Given the description of an element on the screen output the (x, y) to click on. 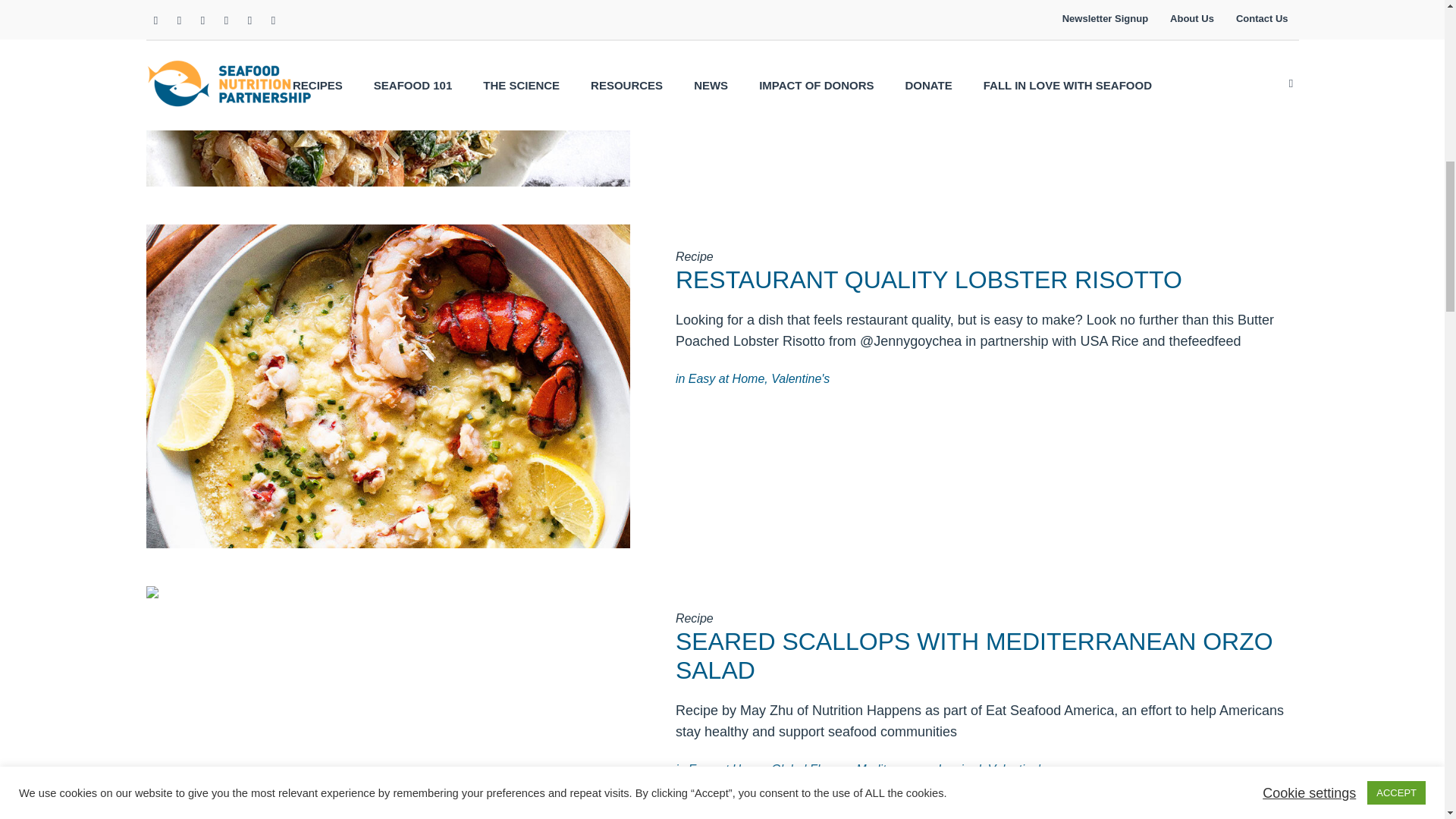
Creamy Tuscan Salmon and Shrimp Pasta (386, 25)
Shrimp Salmon Tuscan Pasta-final (386, 93)
Restaurant Quality Lobster Risotto (386, 385)
Seared Scallops with Mediterranean Orzo Salad (386, 744)
